Given the description of an element on the screen output the (x, y) to click on. 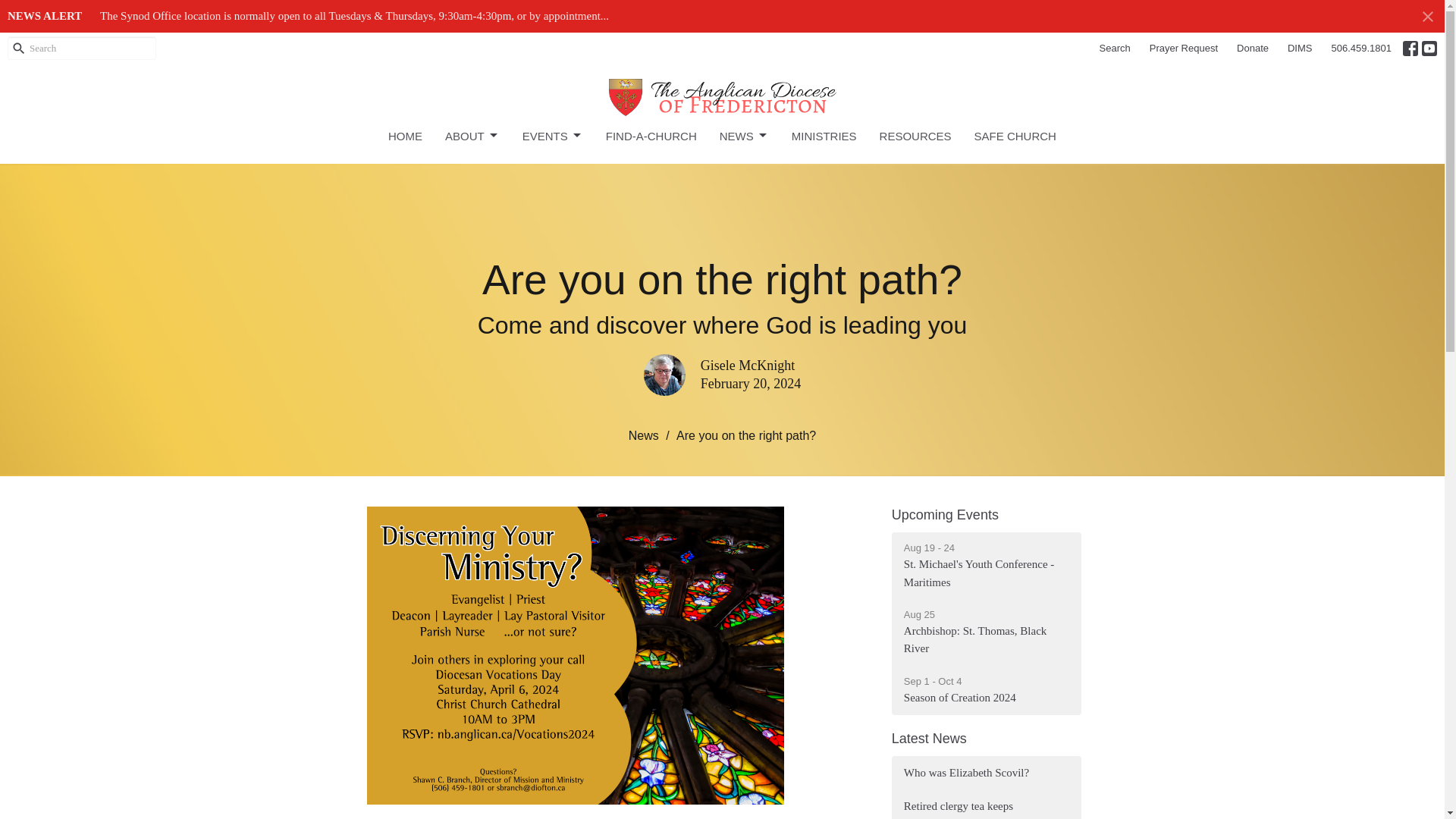
HOME (405, 135)
506.459.1801 (1361, 47)
NEWS (743, 135)
EVENTS (552, 135)
DIMS (1299, 47)
Upcoming Events (986, 565)
Search (944, 514)
Donate (1115, 47)
ABOUT (1252, 47)
MINISTRIES (472, 135)
Prayer Request (824, 135)
RESOURCES (1183, 47)
News (915, 135)
